Given the description of an element on the screen output the (x, y) to click on. 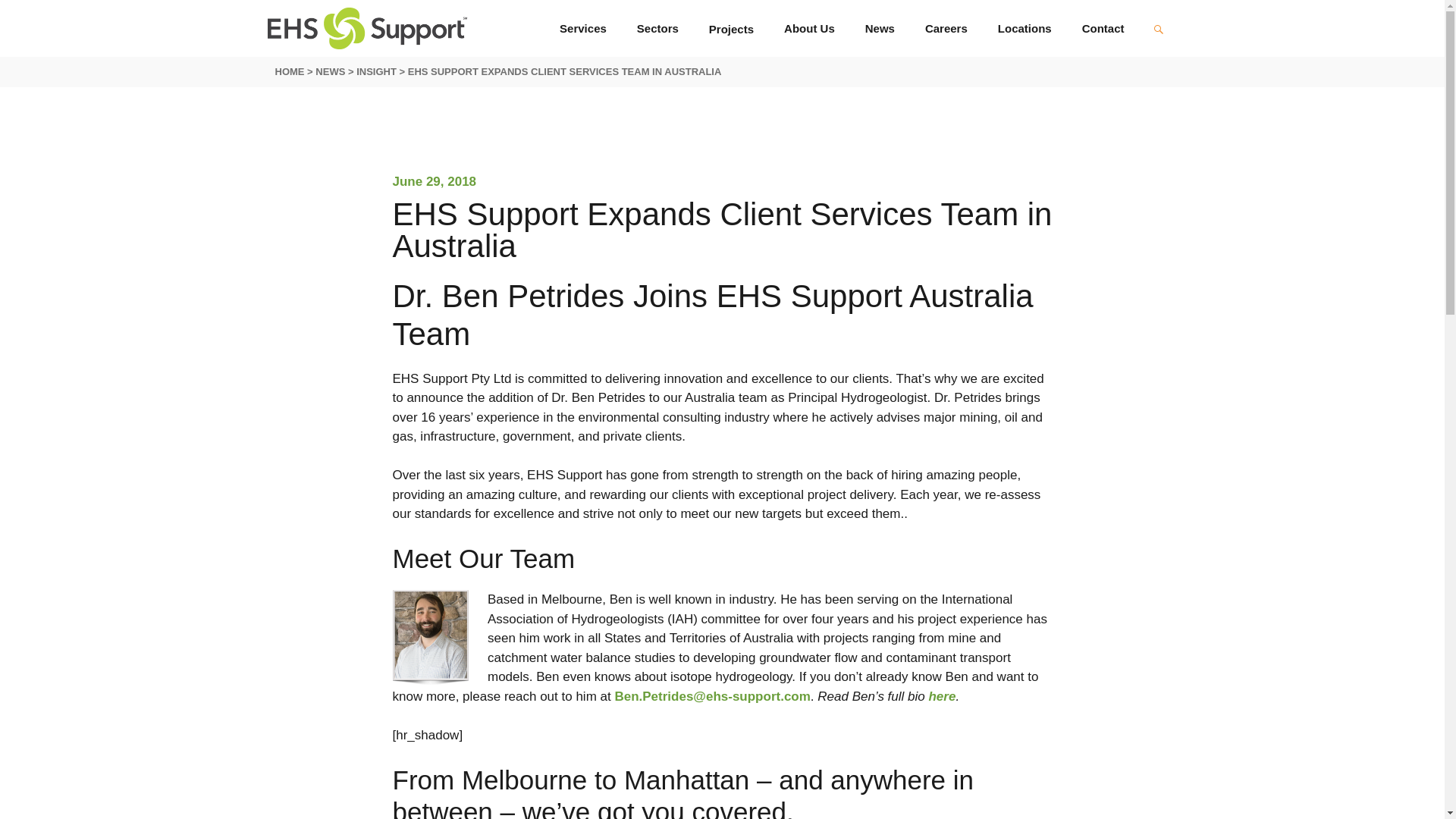
Sectors (656, 28)
Services (582, 28)
Ben Petrides (941, 696)
